Given the description of an element on the screen output the (x, y) to click on. 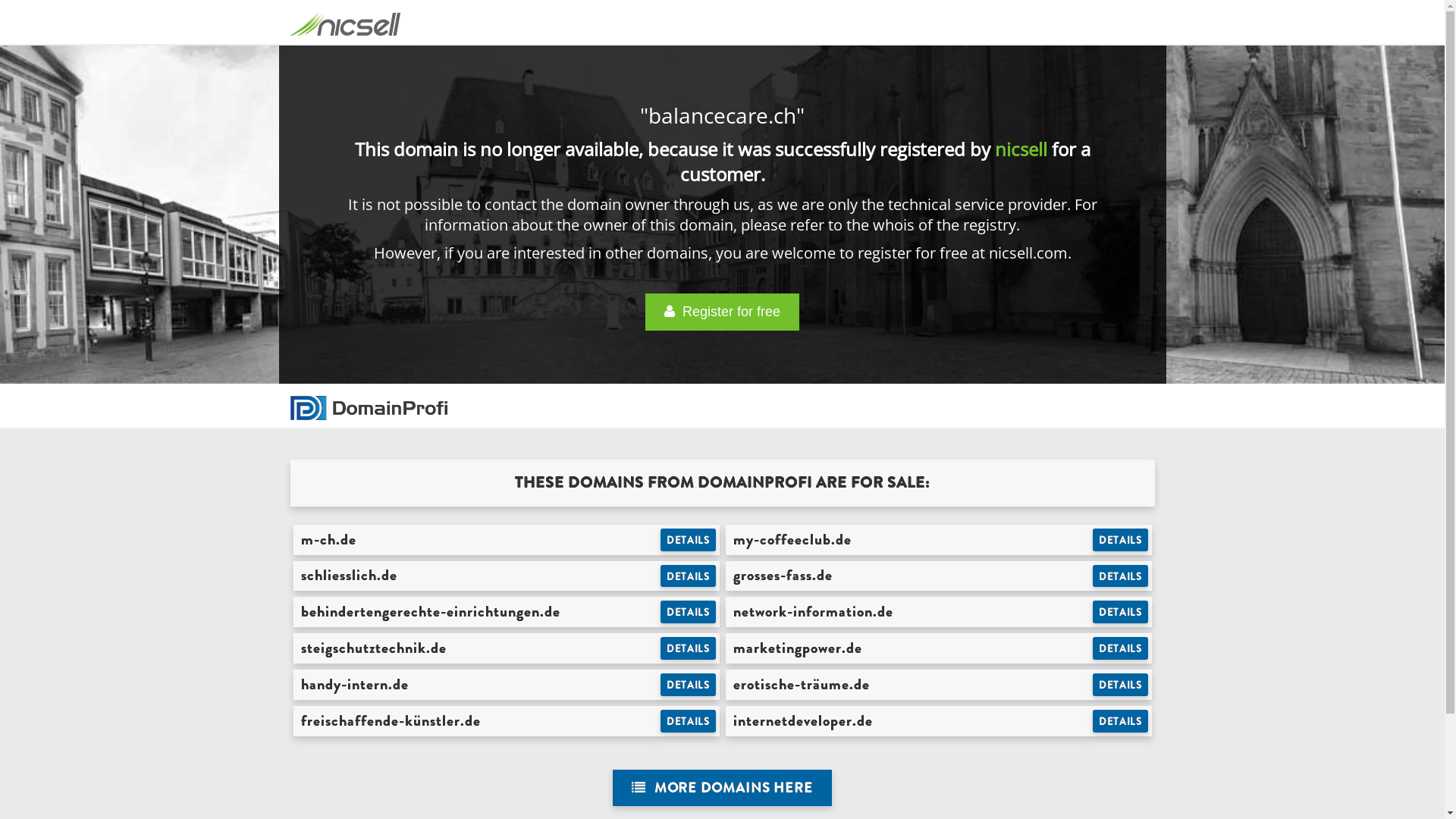
DETAILS Element type: text (687, 648)
DETAILS Element type: text (687, 720)
DETAILS Element type: text (687, 539)
  Register for free Element type: text (722, 311)
DETAILS Element type: text (1120, 611)
DETAILS Element type: text (687, 611)
DETAILS Element type: text (687, 684)
nicsell Element type: text (1020, 148)
DETAILS Element type: text (1120, 539)
DETAILS Element type: text (1120, 720)
DETAILS Element type: text (687, 575)
  MORE DOMAINS HERE Element type: text (721, 787)
DETAILS Element type: text (1120, 648)
DETAILS Element type: text (1120, 684)
DETAILS Element type: text (1120, 575)
